Given the description of an element on the screen output the (x, y) to click on. 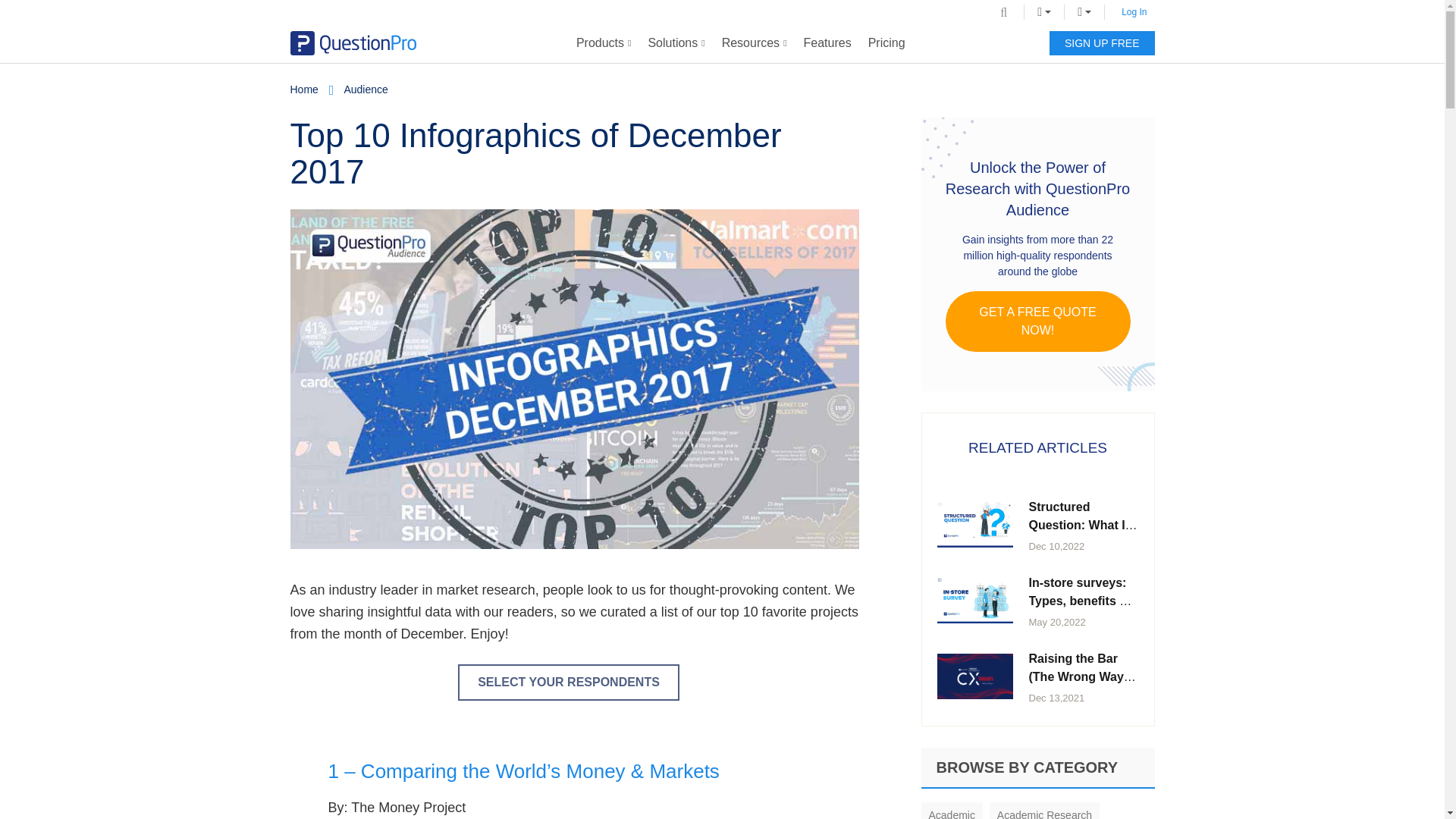
Pricing (887, 42)
Solutions (676, 42)
Features (827, 42)
Products (603, 42)
Resources (753, 42)
